Given the description of an element on the screen output the (x, y) to click on. 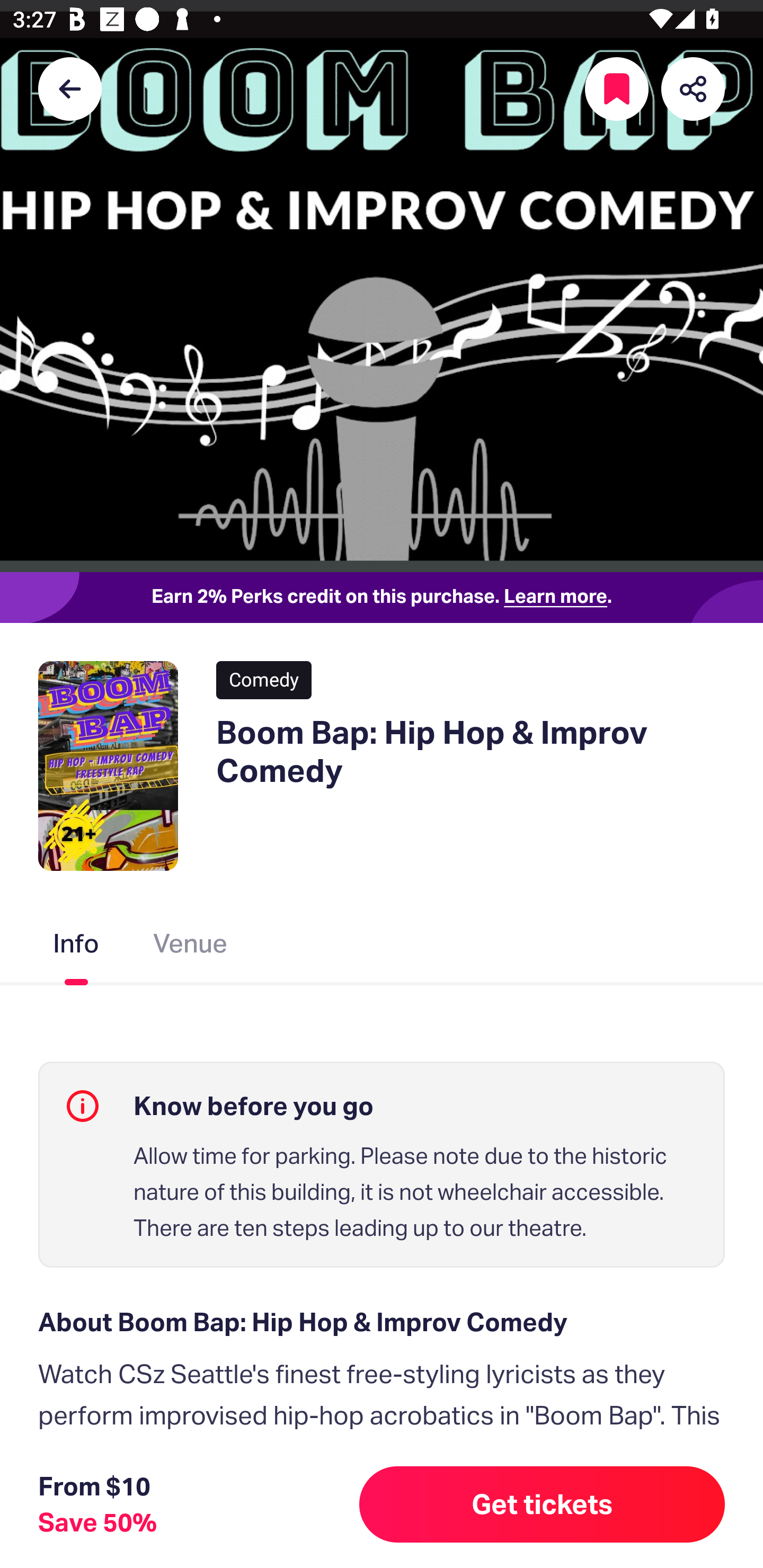
Earn 2% Perks credit on this purchase. Learn more. (381, 597)
Venue (190, 946)
About Boom Bap: Hip Hop & Improv Comedy (381, 1322)
Get tickets (541, 1504)
